Given the description of an element on the screen output the (x, y) to click on. 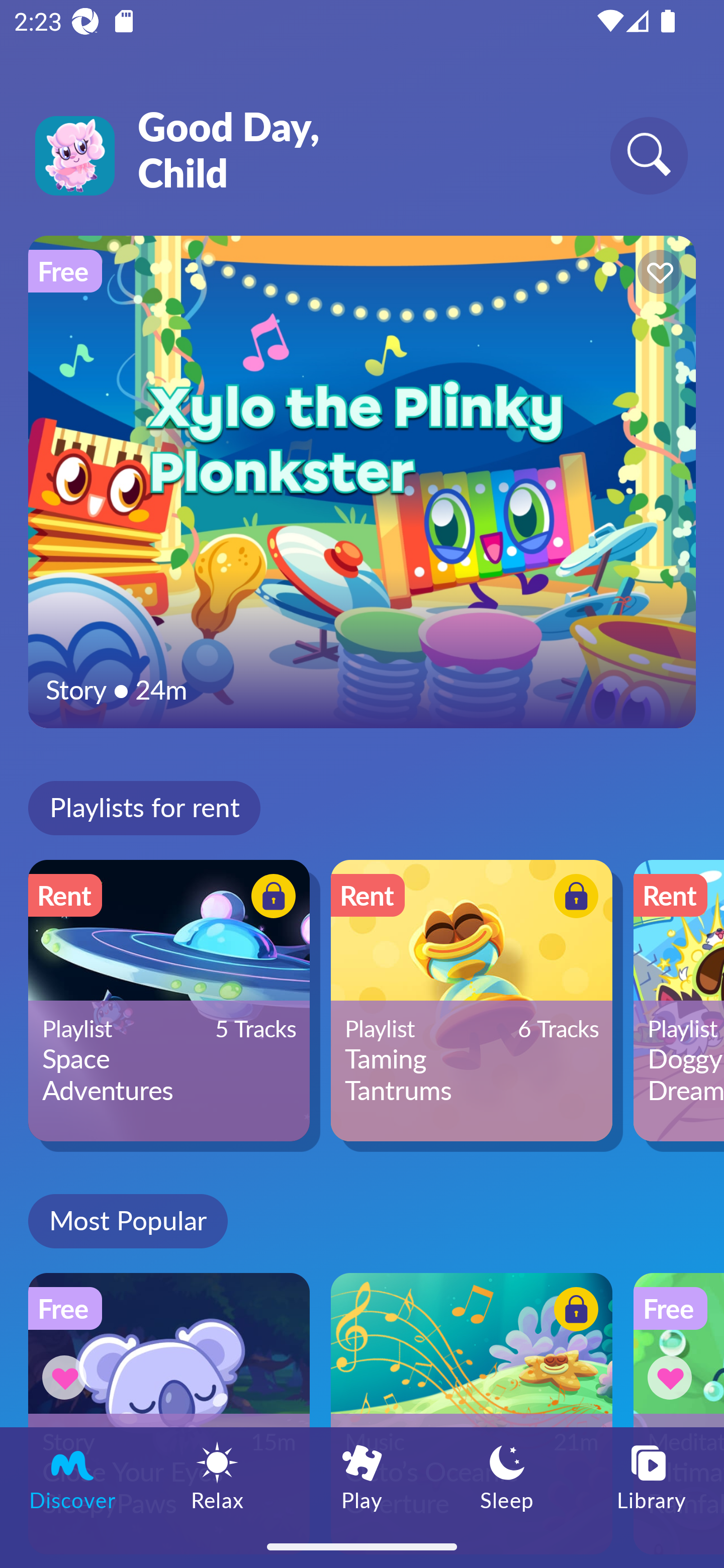
Search (648, 154)
Featured Content Free Button Story ● 24m (361, 481)
Button (656, 274)
Button (269, 898)
Button (573, 898)
Button (573, 1312)
Button (67, 1377)
Button (672, 1377)
Relax (216, 1475)
Play (361, 1475)
Sleep (506, 1475)
Library (651, 1475)
